Given the description of an element on the screen output the (x, y) to click on. 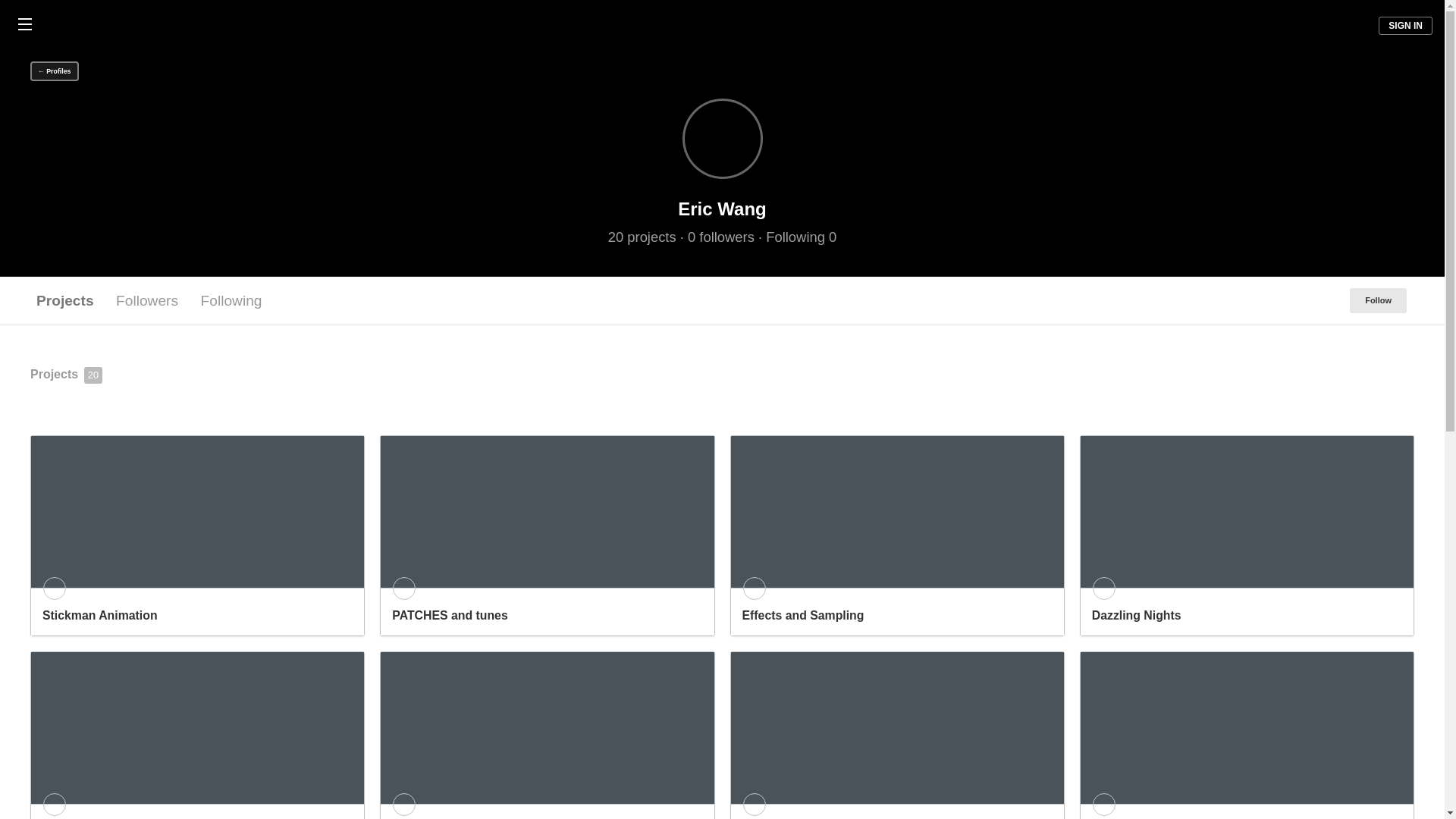
Follow (1377, 300)
SIGN IN (1405, 25)
Following (231, 300)
PATCHES and tunes (546, 535)
Dazzling Nights (1246, 535)
Effects and Sampling (897, 535)
Stickman Animation (197, 535)
Followers (146, 300)
Projects (65, 300)
Giver Realization (197, 735)
